Given the description of an element on the screen output the (x, y) to click on. 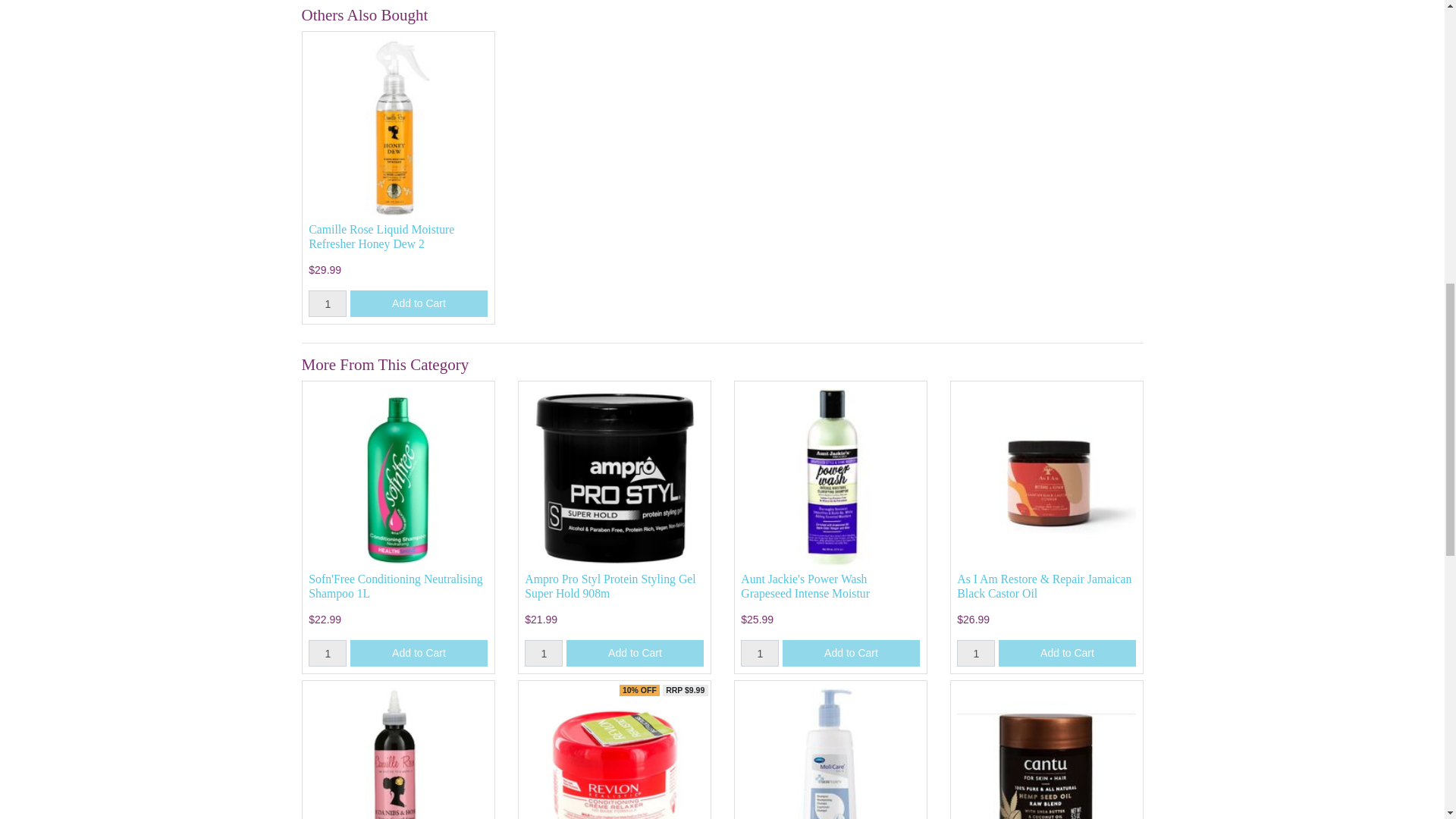
1 (975, 652)
1 (543, 652)
1 (327, 303)
1 (327, 652)
Add Sofn'Free Conditioning Neutralising Shampoo 1L to Cart (418, 652)
1 (759, 652)
